Given the description of an element on the screen output the (x, y) to click on. 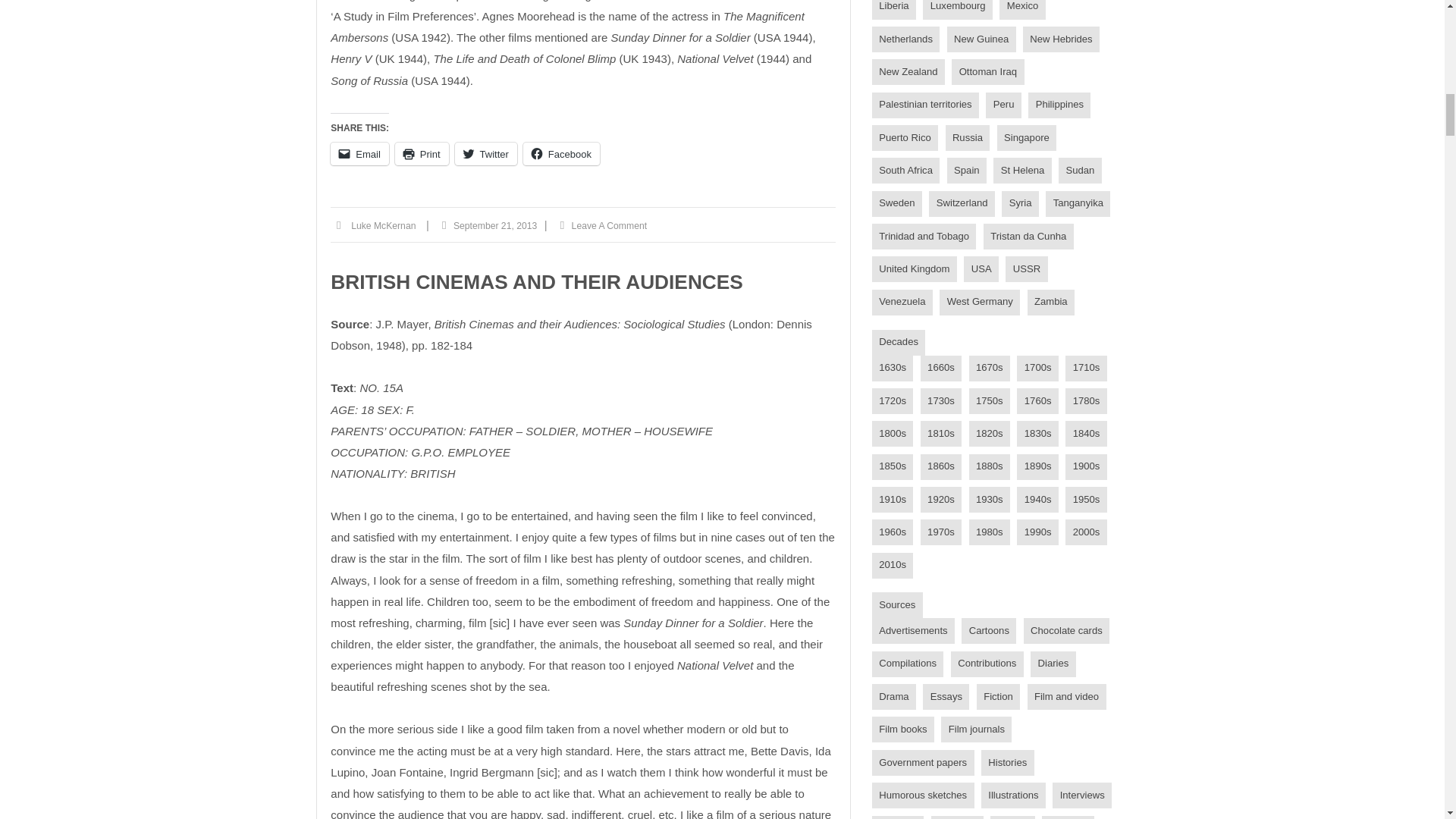
Click to print (421, 153)
Print (421, 153)
Click to share on Twitter (485, 153)
Click to email a link to a friend (359, 153)
BRITISH CINEMAS AND THEIR AUDIENCES (536, 282)
September 21, 2013 (494, 226)
Luke McKernan (382, 226)
Twitter (485, 153)
Email (359, 153)
Click to share on Facebook (560, 153)
Facebook (560, 153)
Leave A Comment (609, 226)
